Given the description of an element on the screen output the (x, y) to click on. 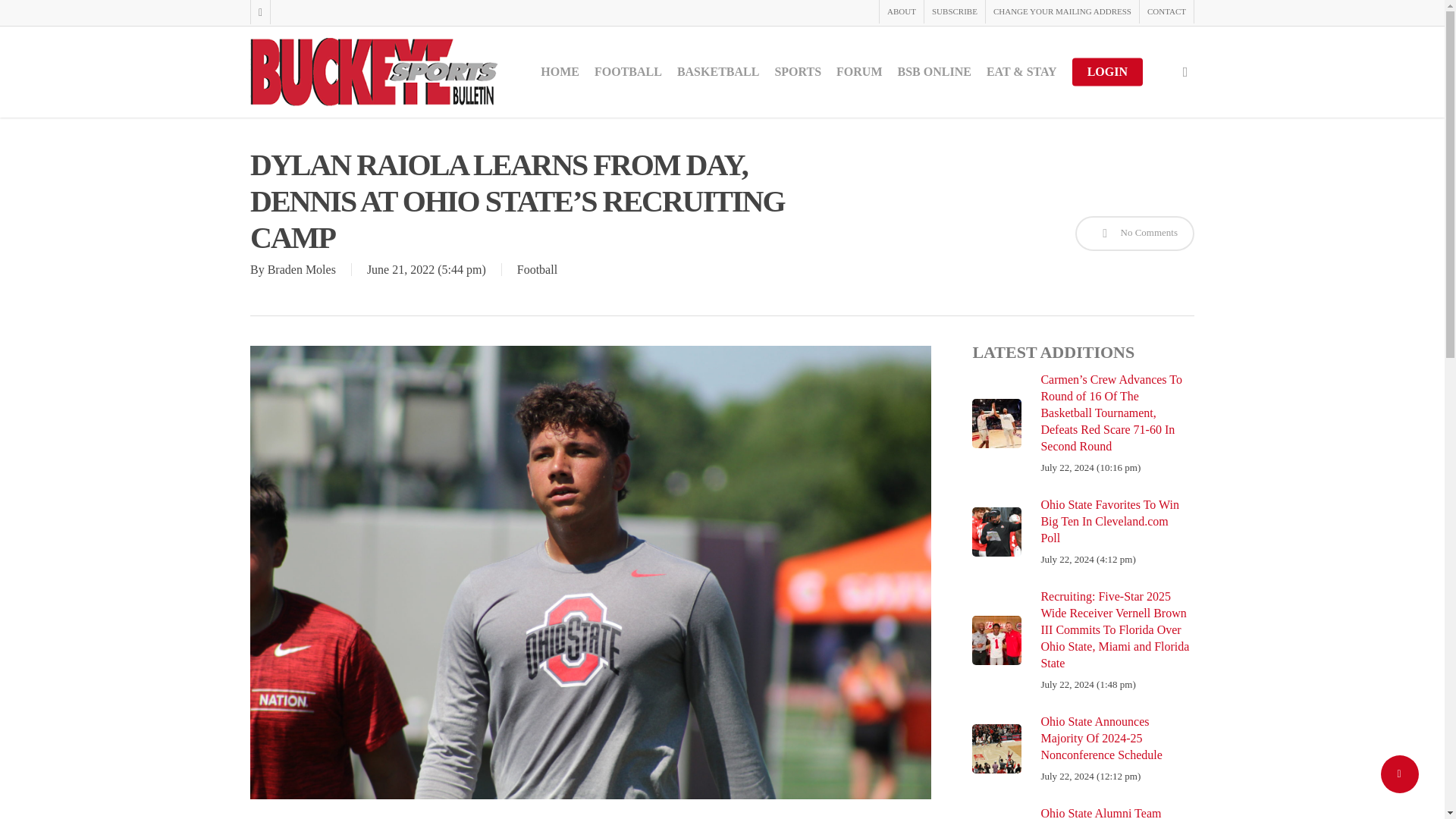
FORUM (858, 71)
search (1184, 71)
BASKETBALL (717, 71)
SUBSCRIBE (954, 11)
HOME (559, 71)
Braden Moles (301, 269)
CHANGE YOUR MAILING ADDRESS (1061, 11)
ABOUT (901, 11)
SPORTS (797, 71)
LOGIN (1106, 71)
BSB ONLINE (934, 71)
Football (536, 269)
CONTACT (1165, 11)
Posts by Braden Moles (301, 269)
FOOTBALL (628, 71)
